Given the description of an element on the screen output the (x, y) to click on. 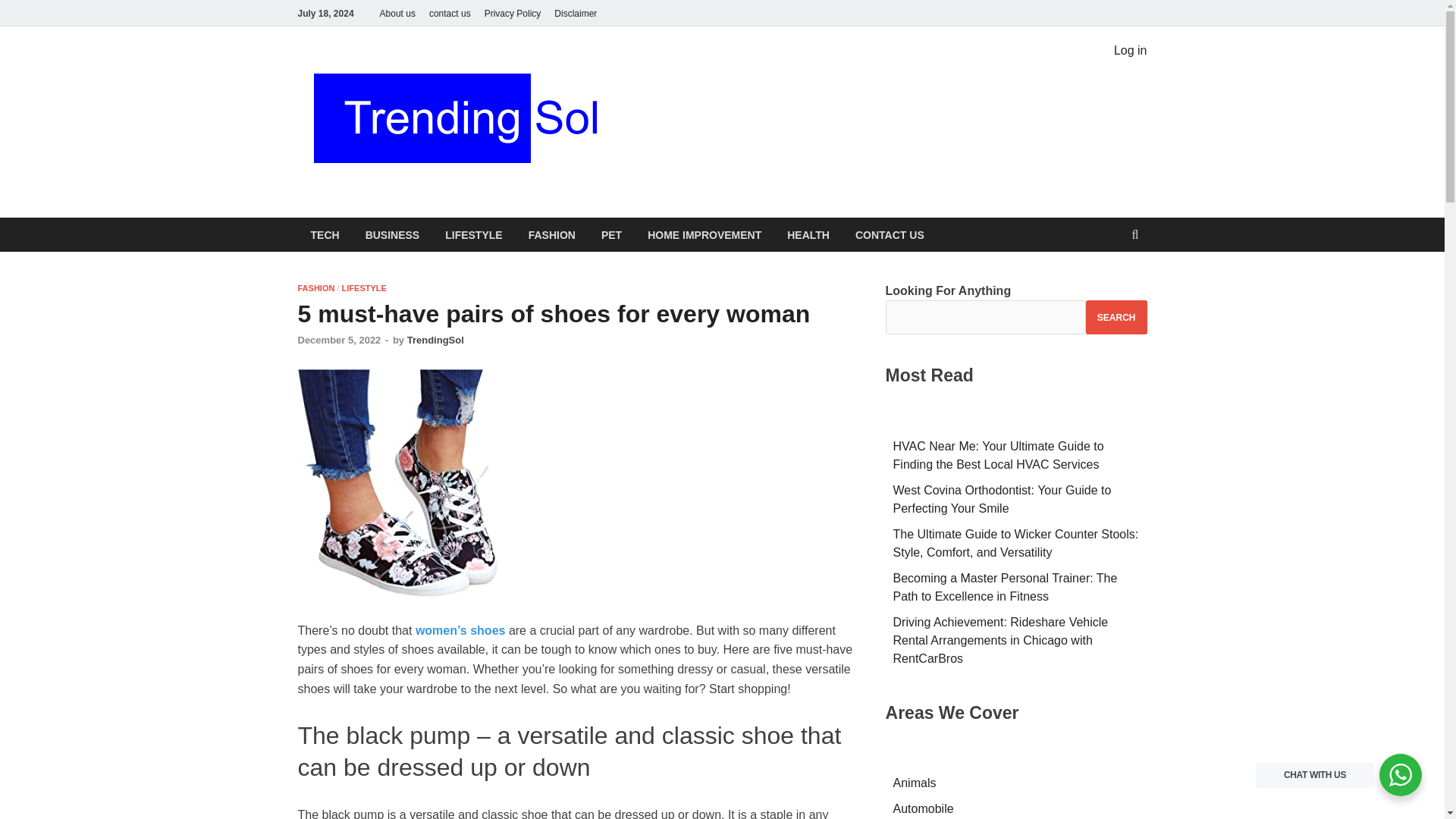
TrendingSol (435, 339)
LIFESTYLE (364, 287)
December 5, 2022 (338, 339)
contact us (449, 13)
Log in (1130, 50)
BUSINESS (392, 234)
LIFESTYLE (473, 234)
CONTACT US (890, 234)
FASHION (315, 287)
HEALTH (808, 234)
PET (611, 234)
HOME IMPROVEMENT (704, 234)
TECH (324, 234)
About us (397, 13)
Trending Sol (709, 78)
